Given the description of an element on the screen output the (x, y) to click on. 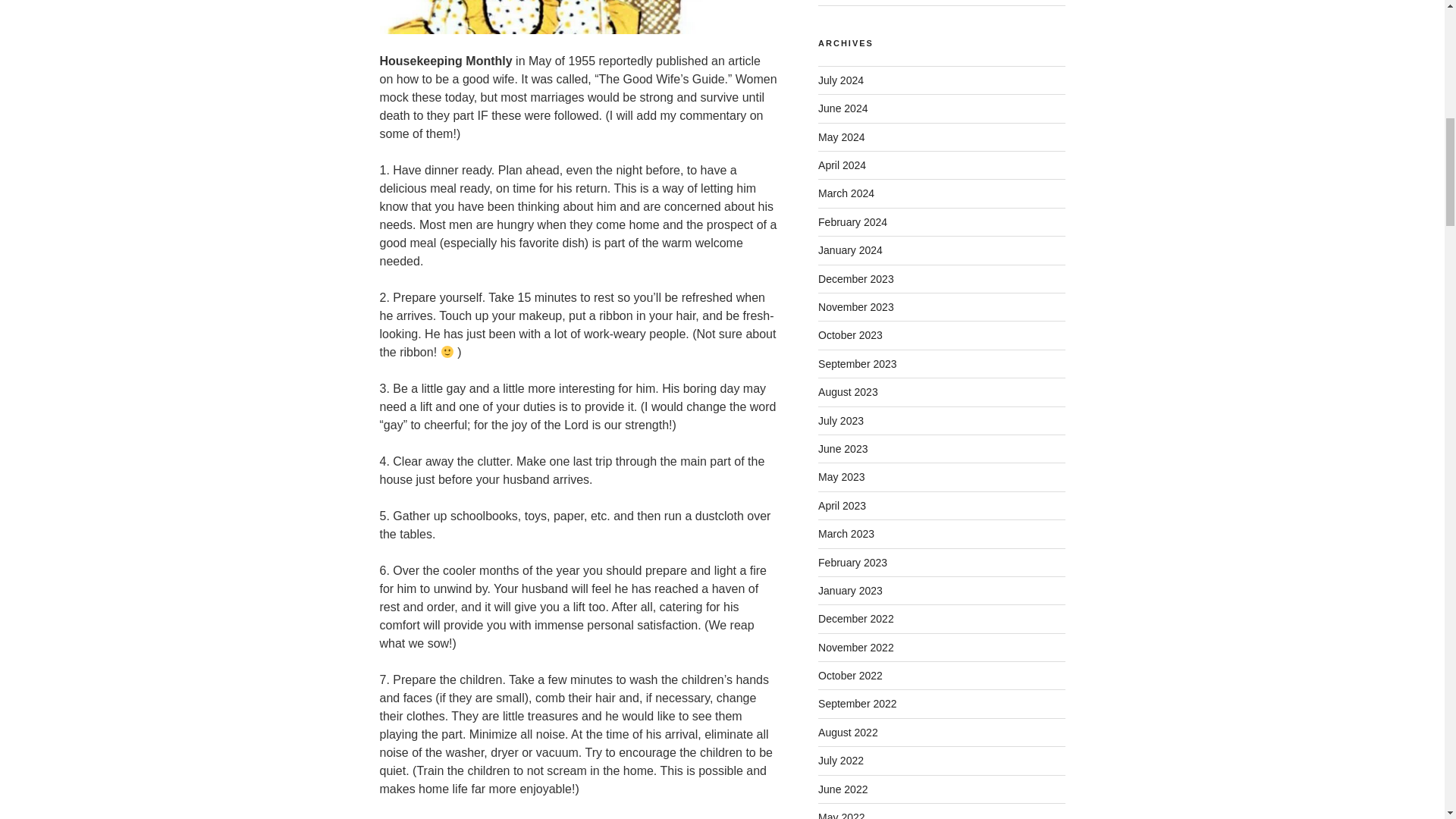
March 2024 (846, 193)
February 2024 (852, 222)
April 2024 (842, 164)
July 2023 (840, 420)
June 2023 (842, 449)
June 2024 (842, 108)
September 2023 (857, 363)
March 2023 (846, 533)
August 2023 (847, 391)
December 2022 (855, 618)
May 2024 (841, 137)
January 2023 (850, 590)
May 2023 (841, 476)
April 2023 (842, 505)
December 2023 (855, 278)
